Given the description of an element on the screen output the (x, y) to click on. 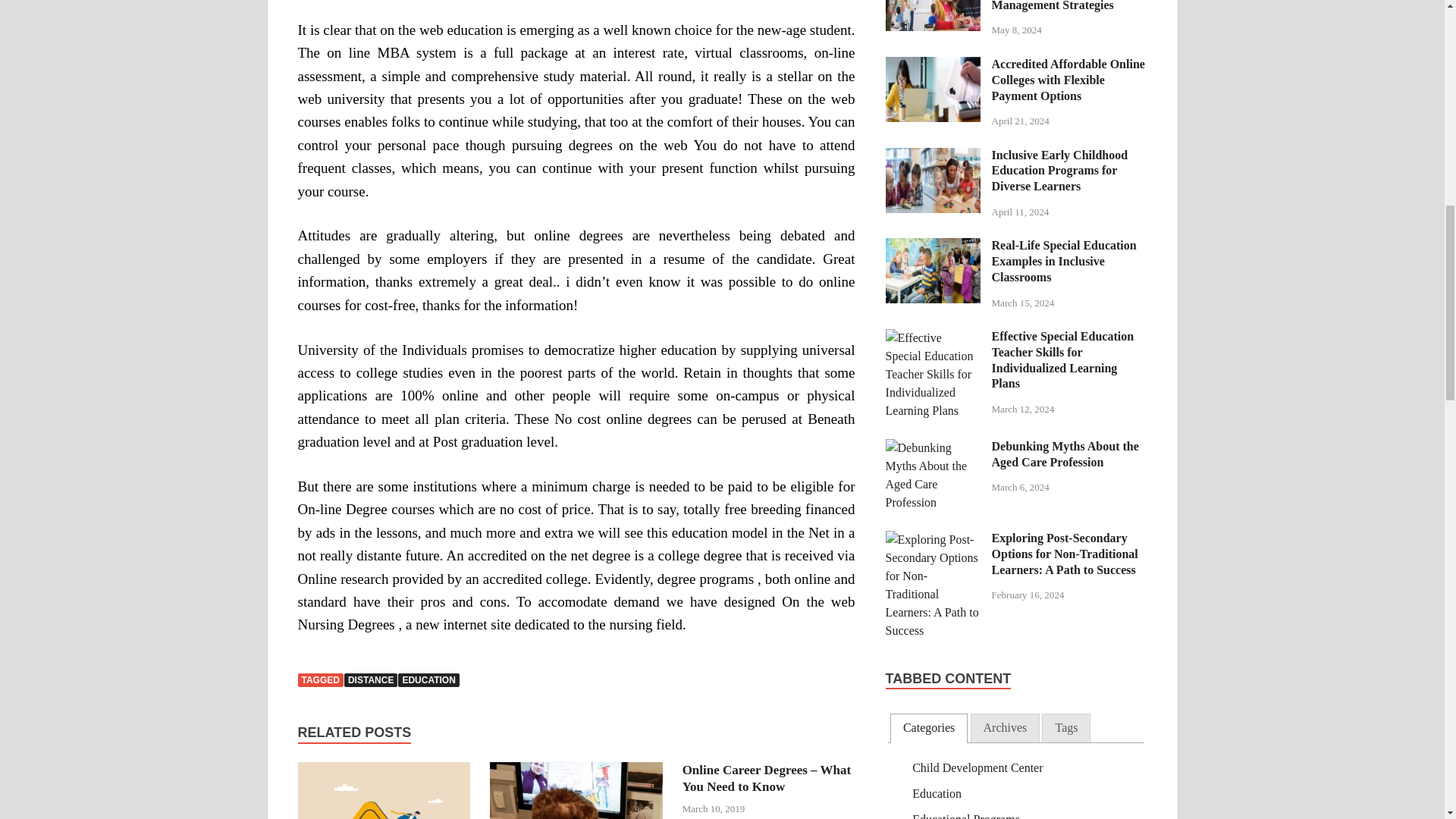
Debunking Myths About the Aged Care Profession (932, 447)
Real-Life Special Education Examples in Inclusive Classrooms (932, 246)
